Given the description of an element on the screen output the (x, y) to click on. 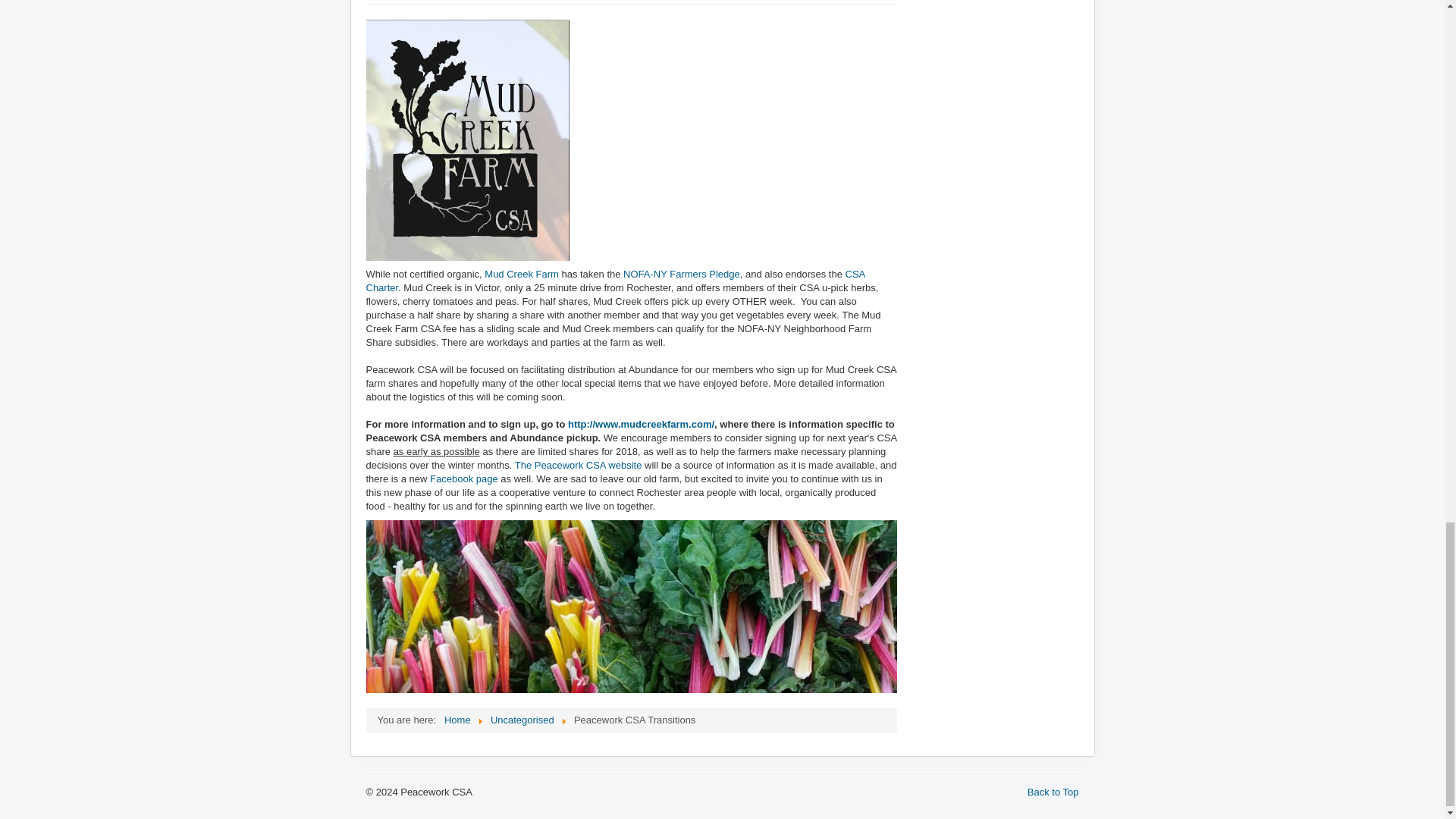
The Peacework CSA website (578, 464)
Home (457, 719)
Facebook page (463, 478)
NOFA-NY Farmers Pledge (681, 274)
CSA Charter (614, 280)
Uncategorised (522, 719)
Back to Top (1052, 791)
Mud Creek Farm (521, 274)
